Given the description of an element on the screen output the (x, y) to click on. 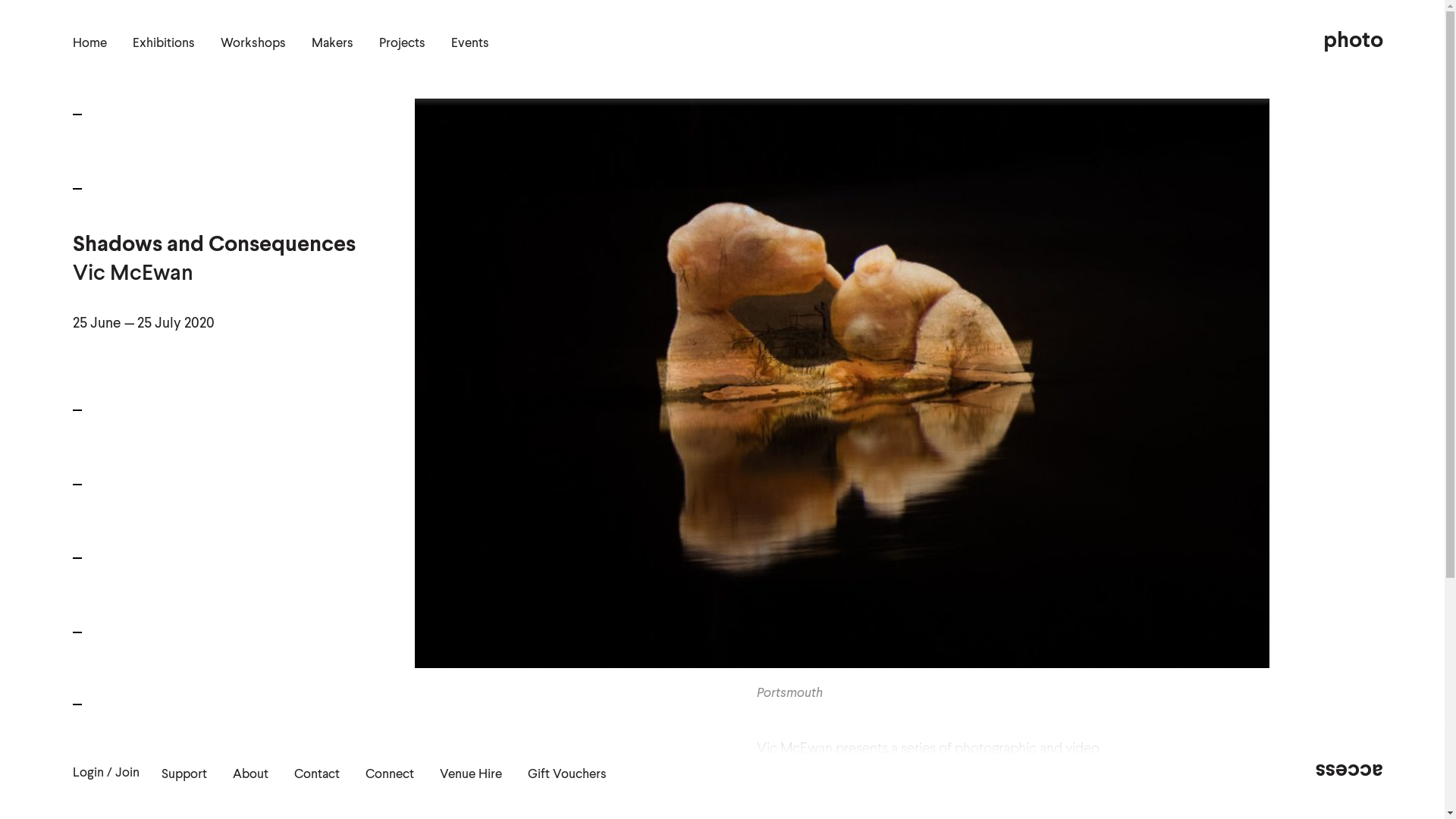
Workshops Element type: text (252, 43)
photo Element type: text (1353, 41)
Gift Vouchers Element type: text (566, 774)
Connect Element type: text (389, 774)
Log in Element type: text (21, 492)
Events Element type: text (470, 43)
Projects Element type: text (402, 43)
About Element type: text (250, 774)
Venue Hire Element type: text (470, 774)
Contact Element type: text (316, 774)
Home Element type: text (89, 43)
Exhibitions Element type: text (163, 43)
access Element type: text (1349, 769)
Support Element type: text (184, 774)
Makers Element type: text (332, 43)
Login / Join Element type: text (105, 772)
